Given the description of an element on the screen output the (x, y) to click on. 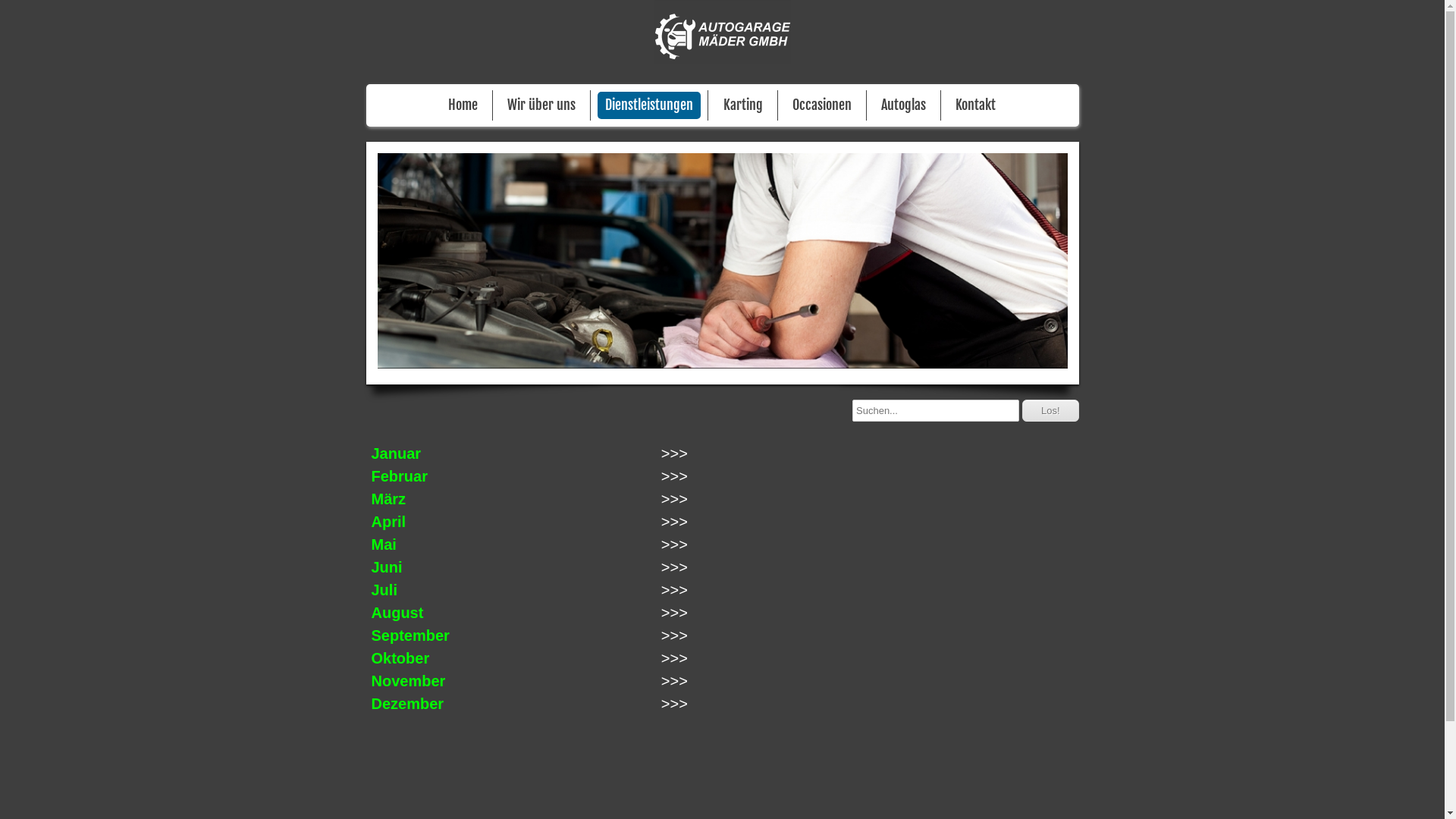
Occasionen Element type: text (821, 105)
Home Element type: text (462, 105)
Kontakt Element type: text (975, 105)
Autoglas Element type: text (903, 105)
Dienstleistungen Element type: text (648, 105)
Karting Element type: text (742, 105)
Los! Element type: text (1050, 410)
